Given the description of an element on the screen output the (x, y) to click on. 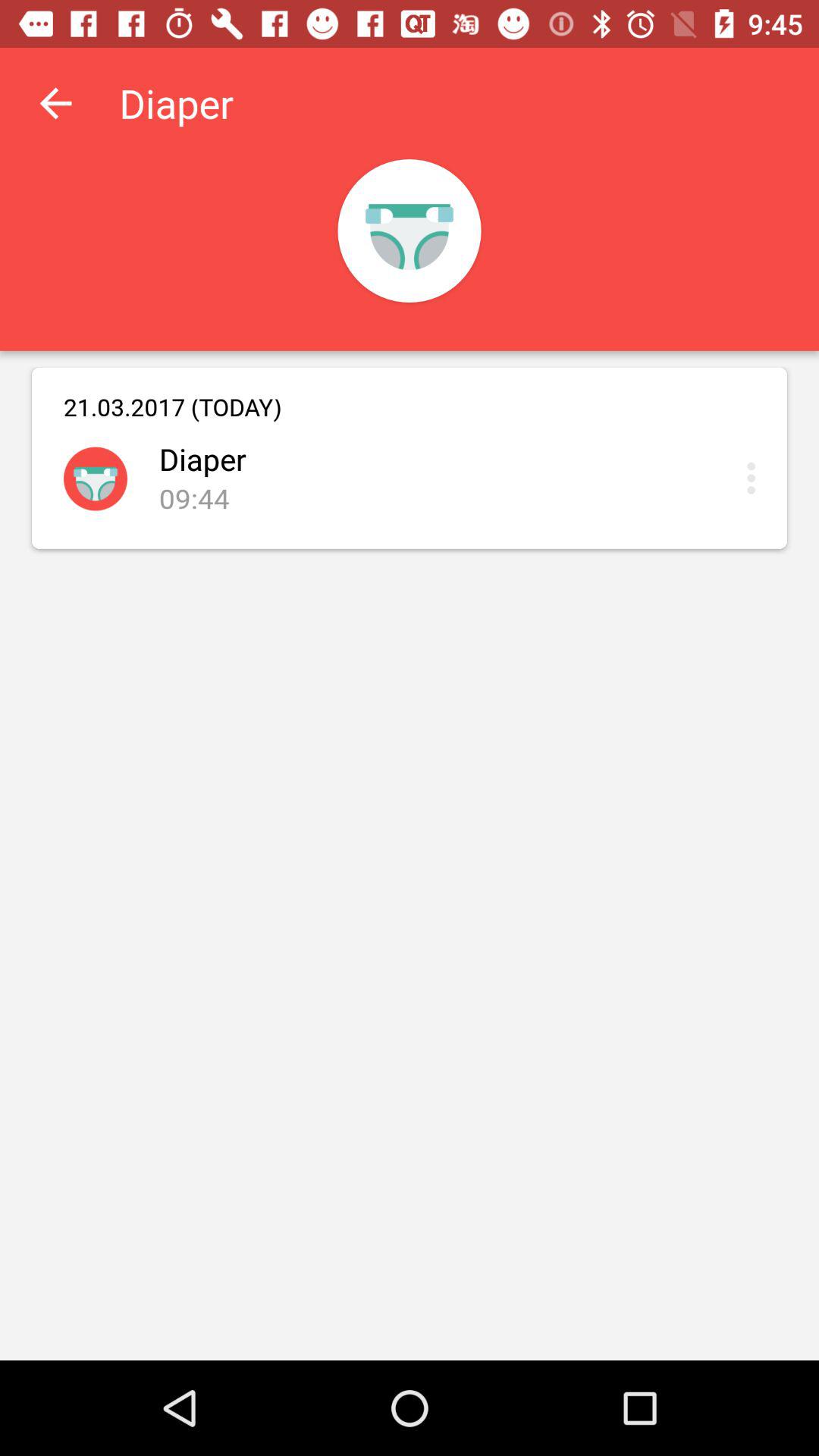
click more options (755, 477)
